Given the description of an element on the screen output the (x, y) to click on. 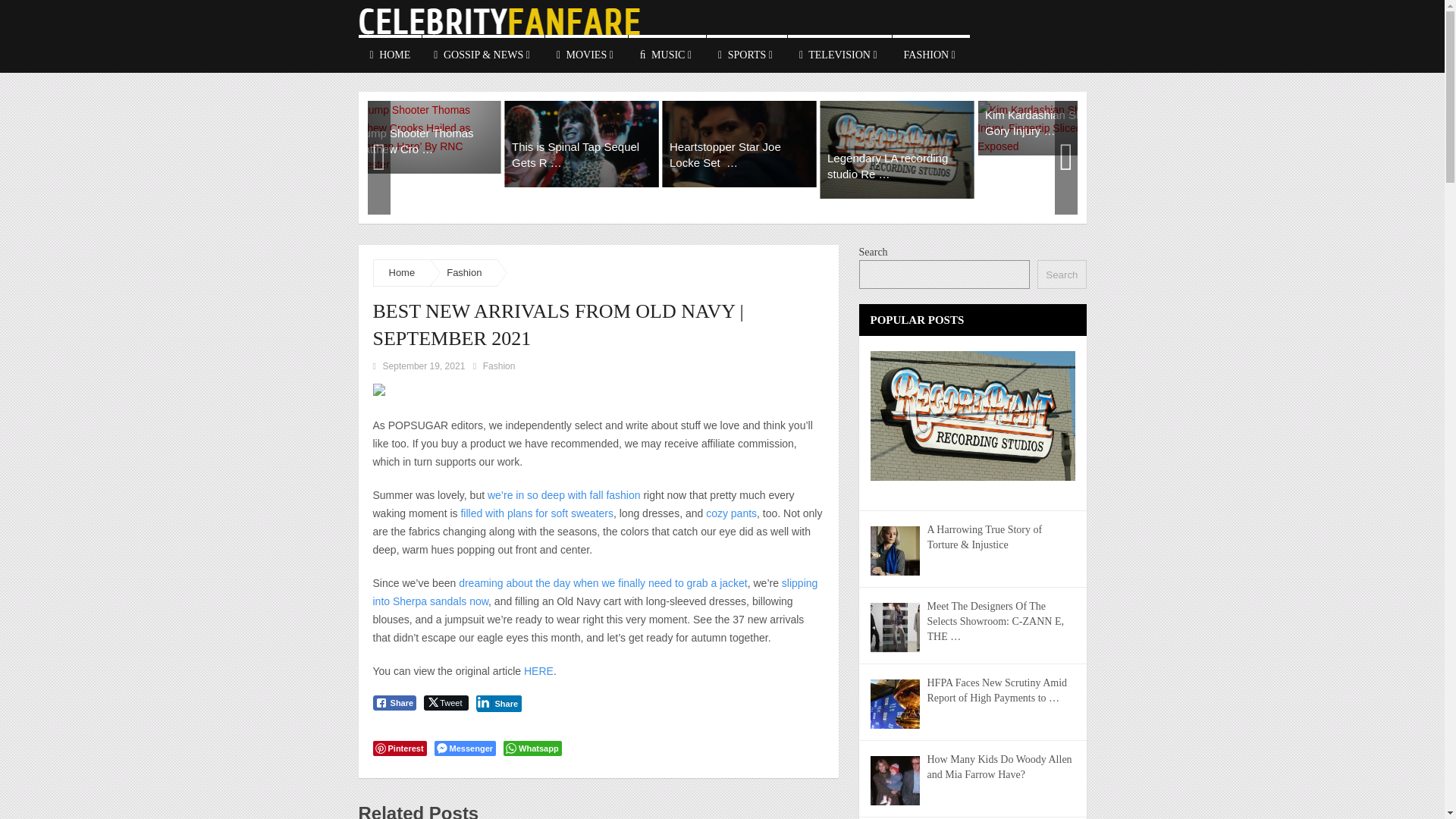
HOME (390, 53)
MOVIES (585, 53)
FASHION (930, 53)
SPORTS (746, 53)
MUSIC (667, 53)
TELEVISION (839, 53)
